Given the description of an element on the screen output the (x, y) to click on. 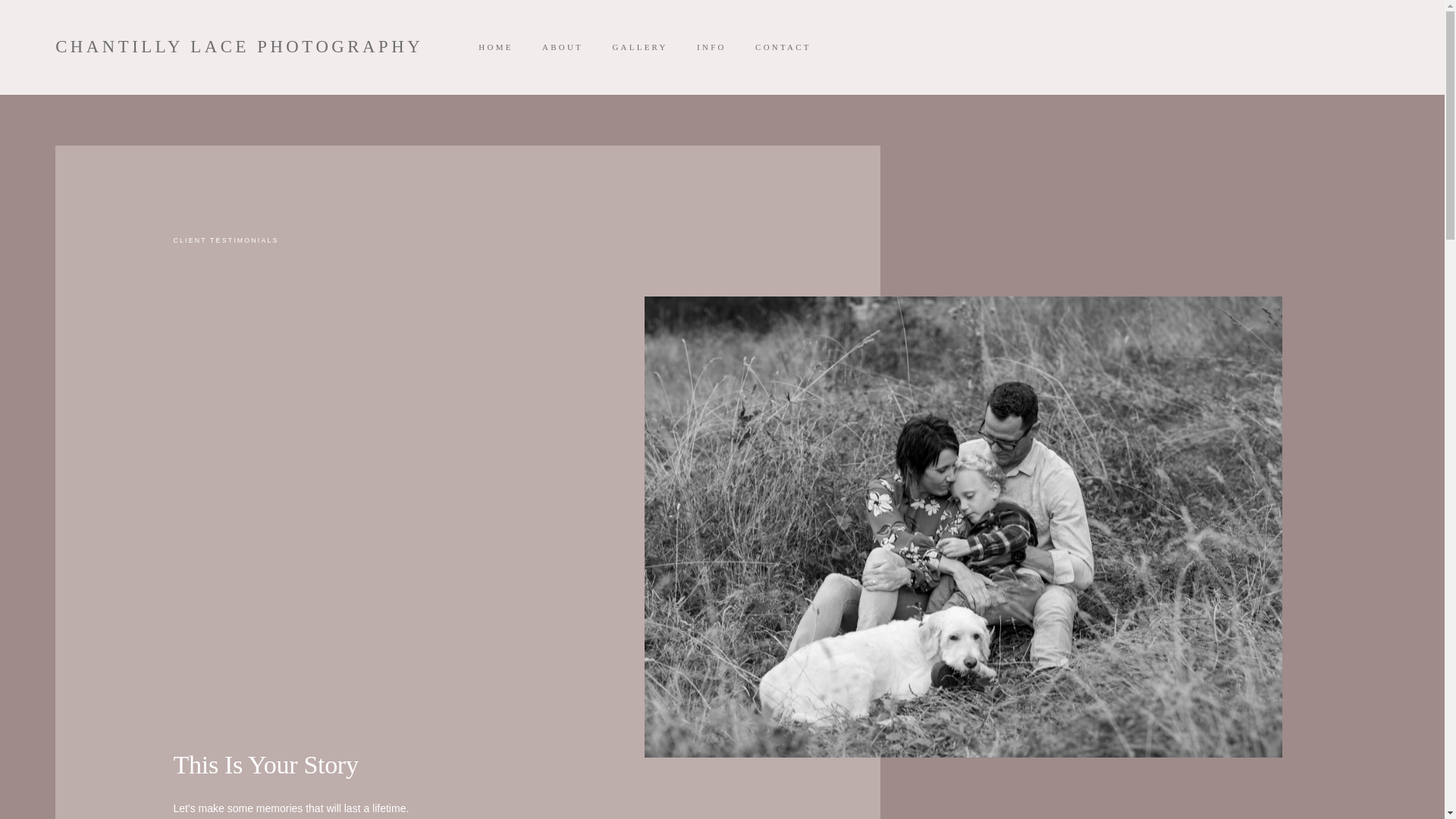
CHANTILLY LACE PHOTOGRAPHY (239, 47)
CONTACT (783, 47)
GALLERY (639, 47)
INFO (711, 47)
ABOUT (561, 47)
HOME (495, 47)
